Given the description of an element on the screen output the (x, y) to click on. 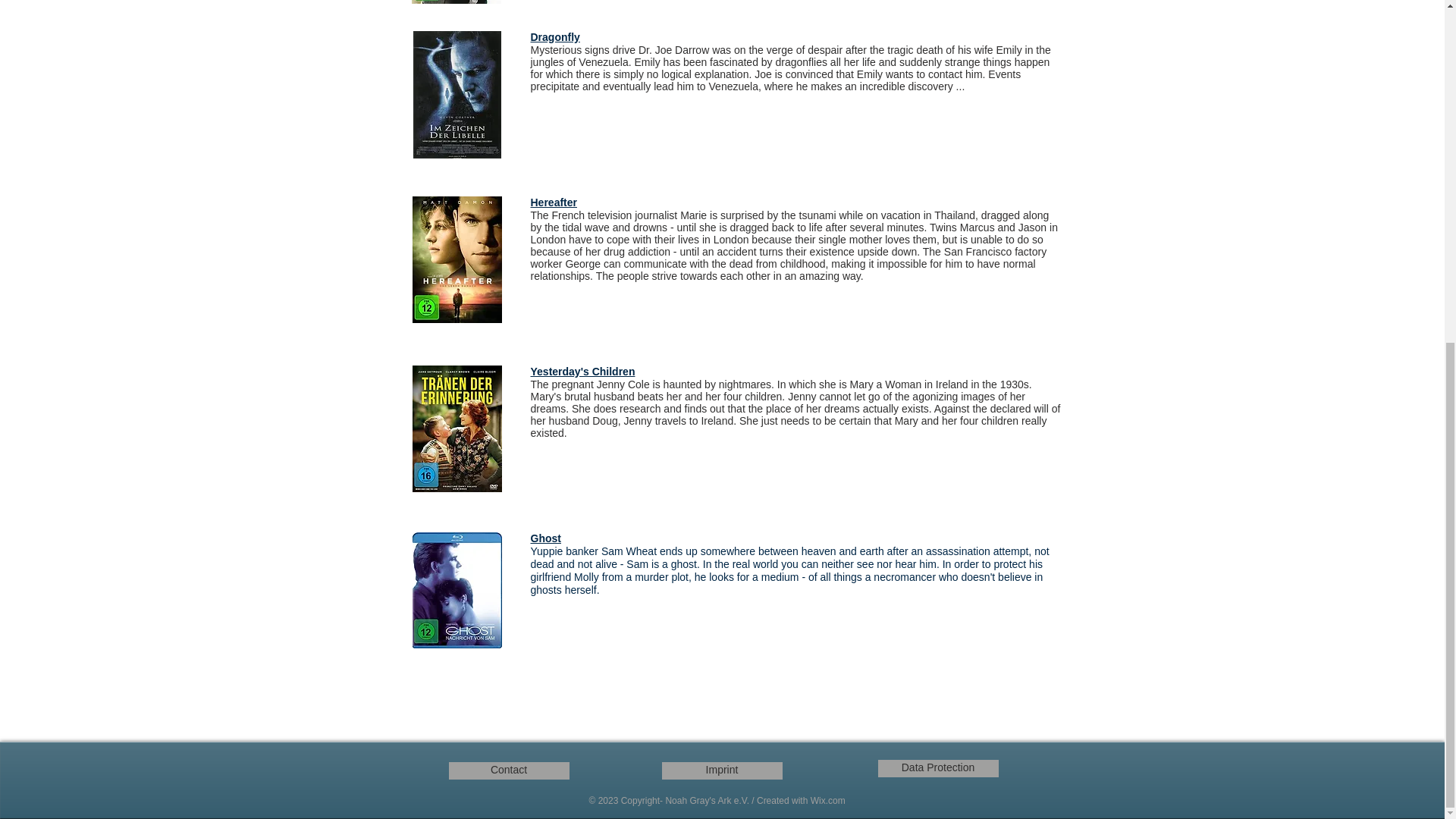
Hereafter (553, 202)
Data Protection (937, 768)
Wix.com (827, 800)
Dragonfly (555, 37)
Ghost (545, 538)
Imprint (721, 770)
Yesterday's Children (582, 371)
Contact (508, 770)
